Given the description of an element on the screen output the (x, y) to click on. 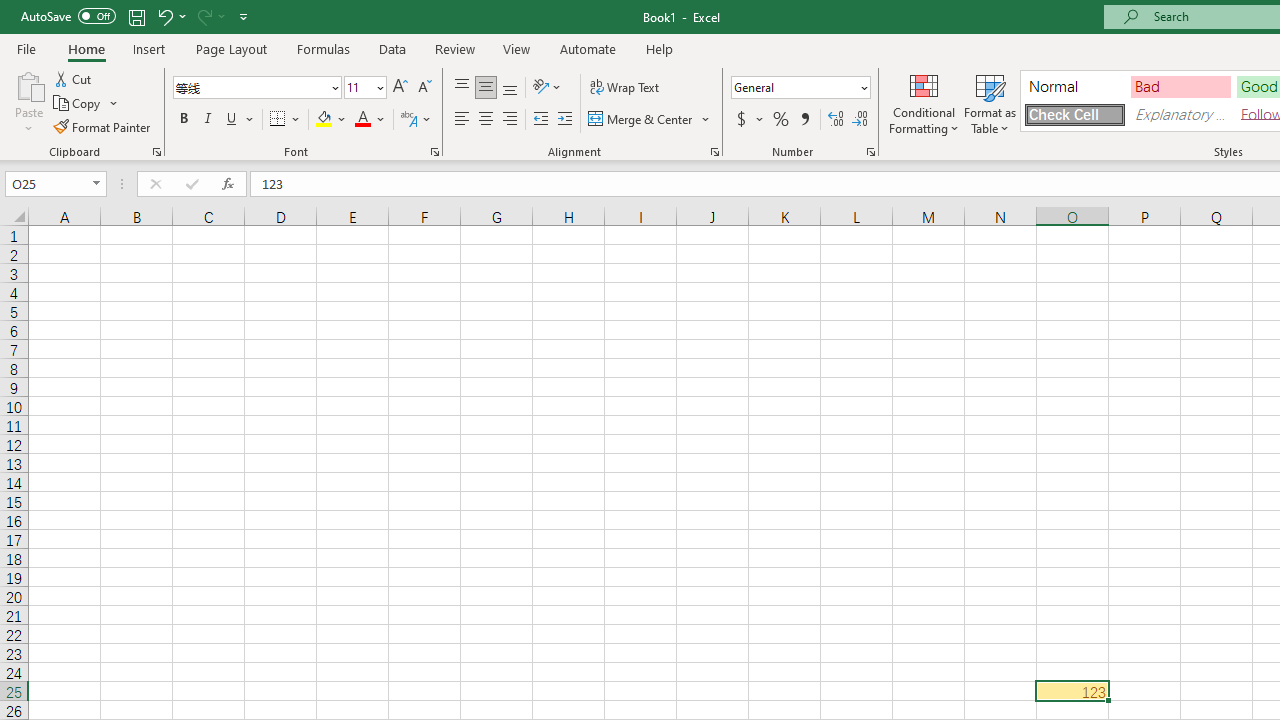
Check Cell (1074, 114)
Italic (207, 119)
Cut (73, 78)
Name Box (46, 183)
Show Phonetic Field (408, 119)
Underline (232, 119)
Decrease Decimal (859, 119)
Font Color (370, 119)
Review (454, 48)
Number Format (794, 87)
Increase Indent (565, 119)
Wrap Text (624, 87)
Comma Style (804, 119)
More Options (760, 119)
Increase Decimal (836, 119)
